Given the description of an element on the screen output the (x, y) to click on. 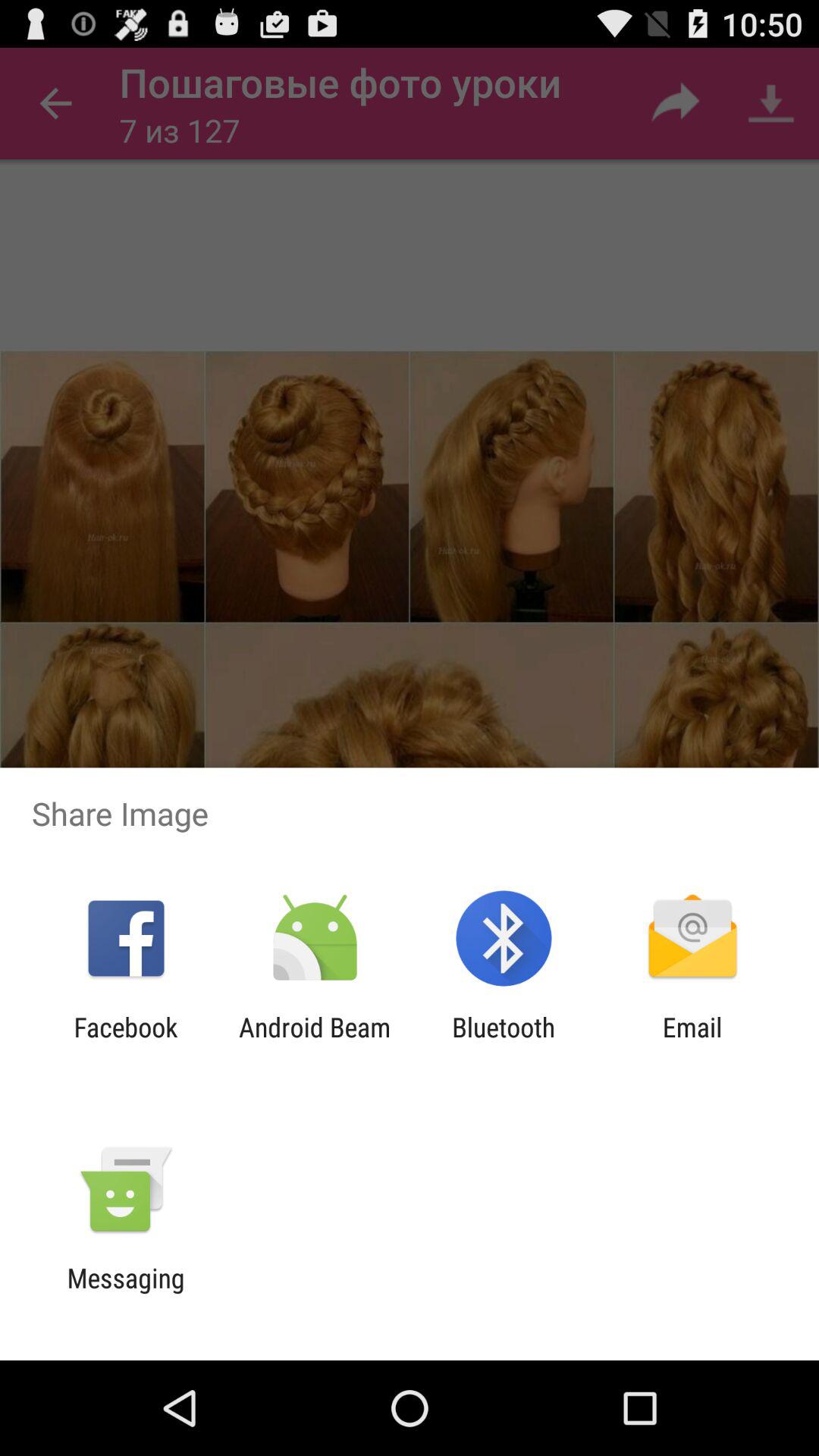
launch item to the right of android beam icon (503, 1042)
